Given the description of an element on the screen output the (x, y) to click on. 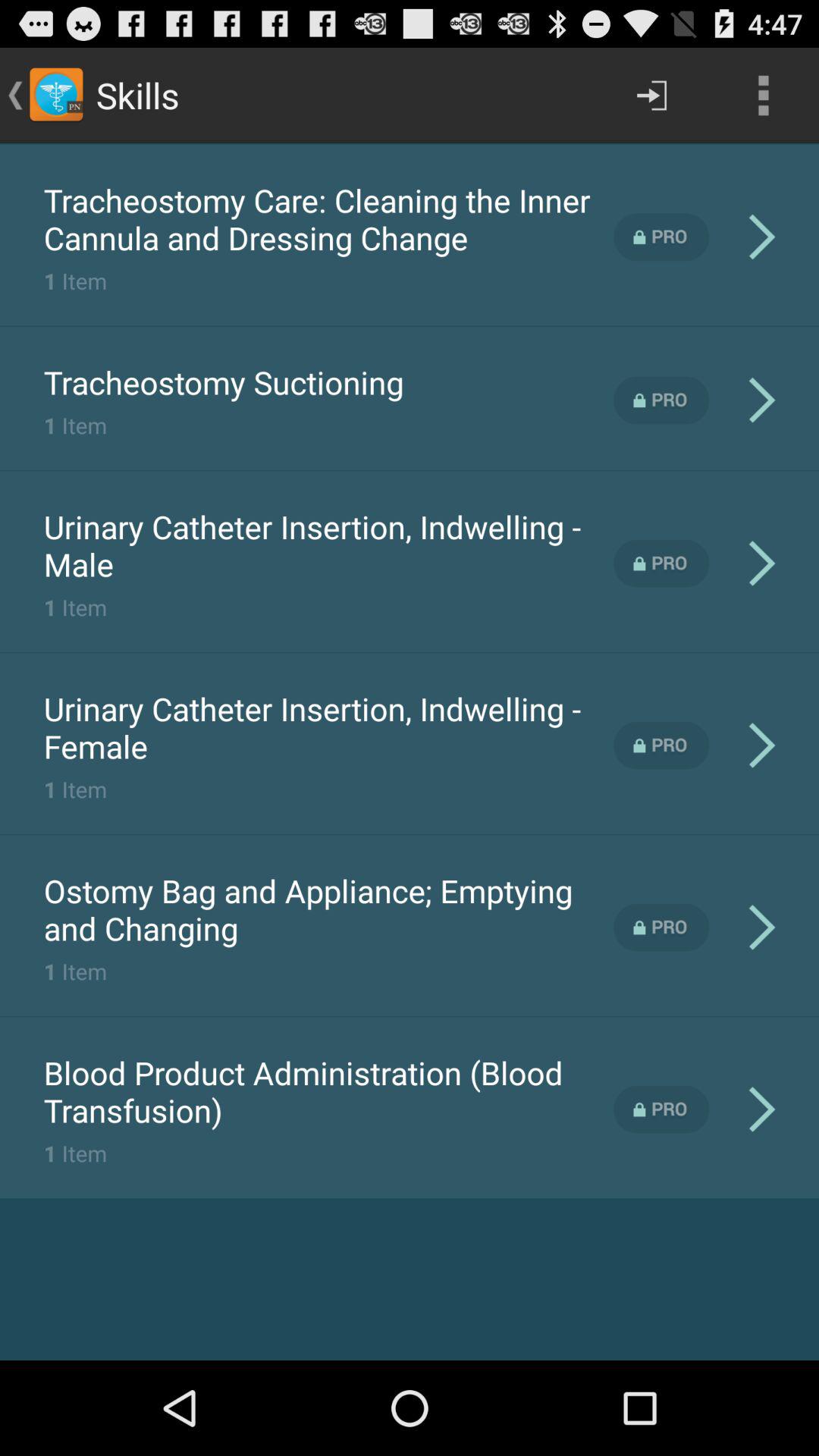
upgrade to pro to unlock (661, 400)
